Given the description of an element on the screen output the (x, y) to click on. 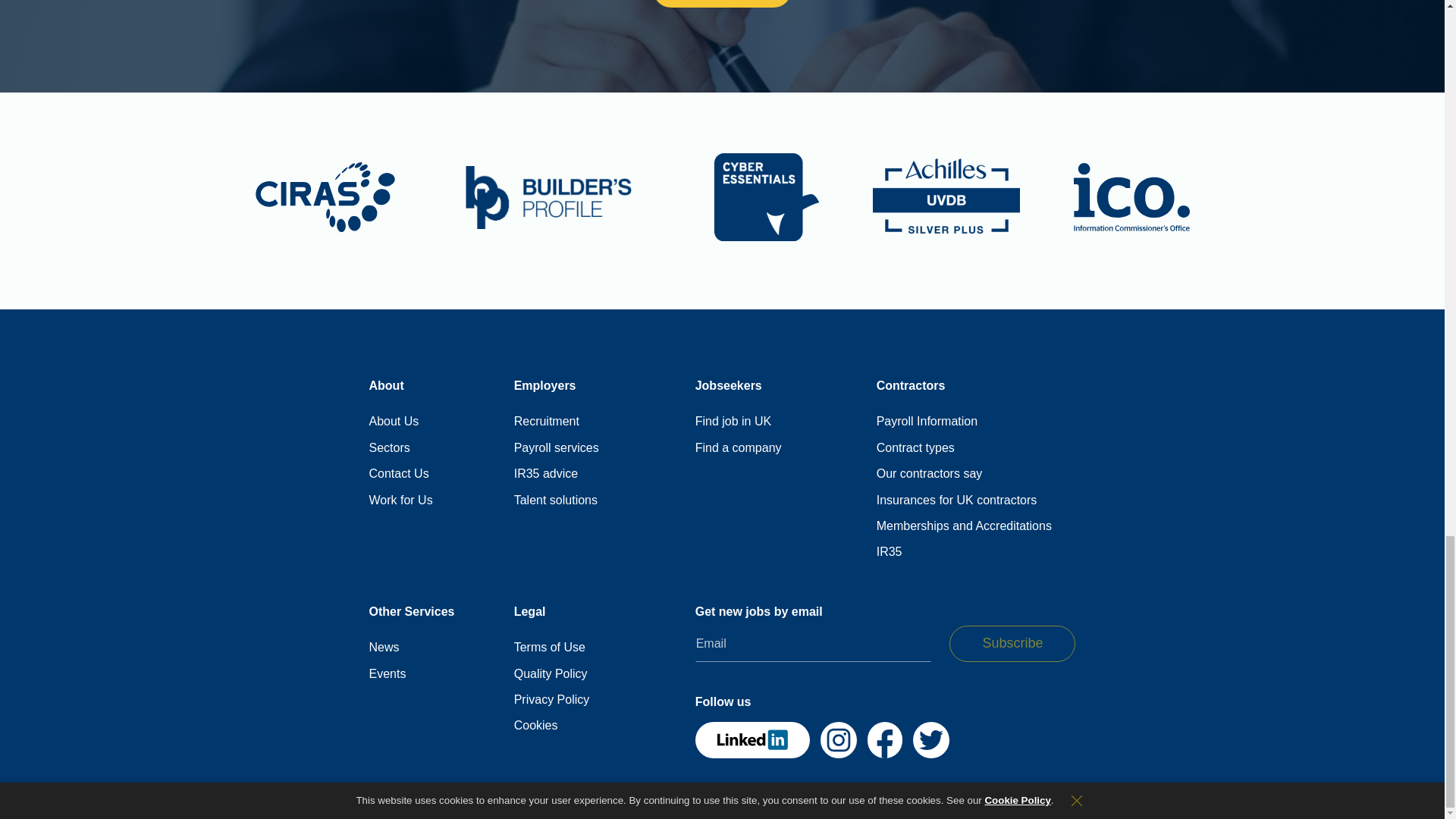
Our contractors say (929, 473)
Get in touch (722, 3)
Find job in UK (733, 421)
Sectors (388, 447)
Memberships and Accreditations (963, 525)
Contact Us (398, 473)
Contract types (915, 447)
About Us (393, 421)
Payroll Information (926, 421)
Insurances for UK contractors (956, 500)
Work for Us (400, 500)
Find a company (738, 447)
open uk jobs search (733, 421)
